Given the description of an element on the screen output the (x, y) to click on. 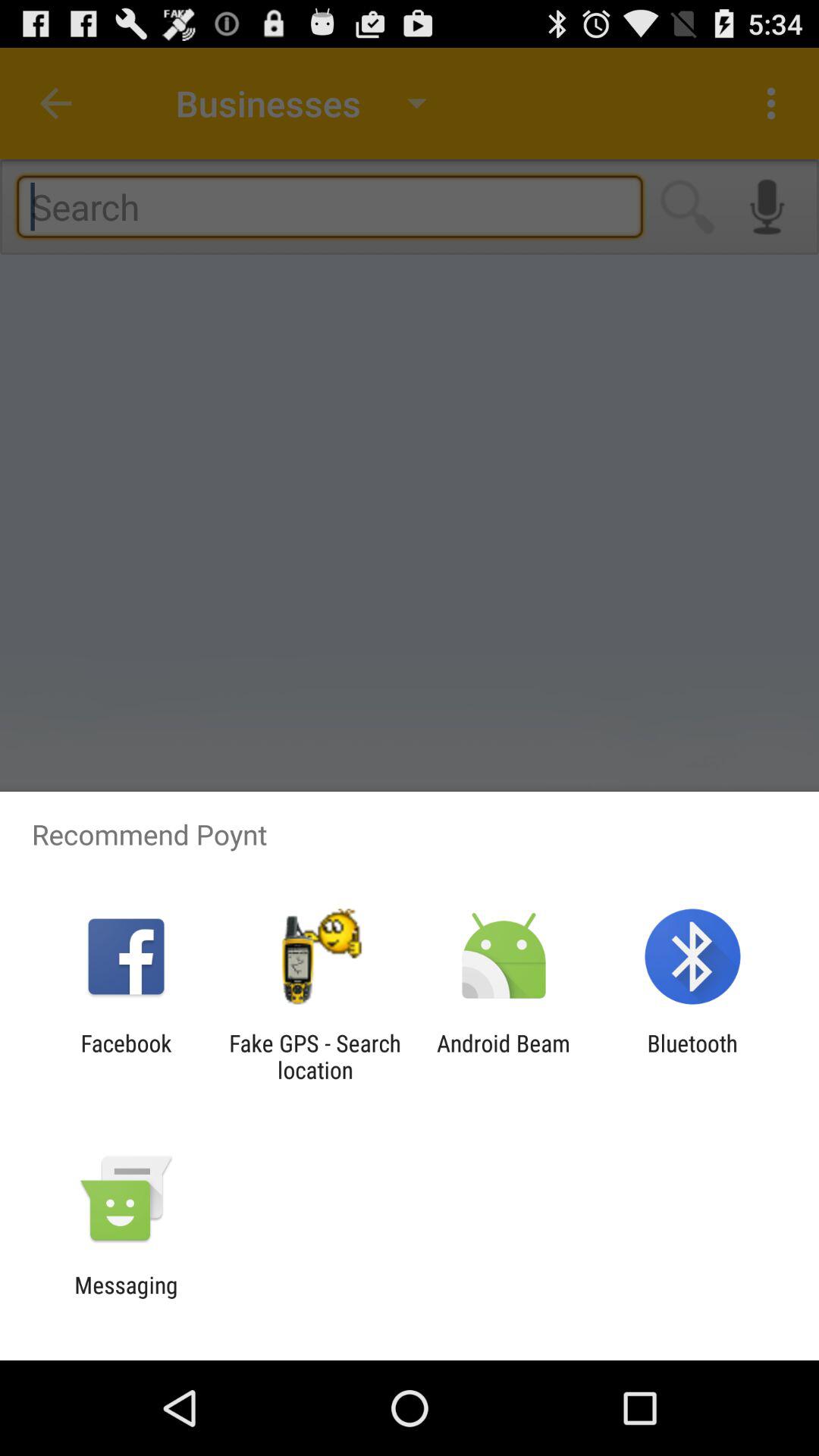
click item next to fake gps search item (125, 1056)
